Given the description of an element on the screen output the (x, y) to click on. 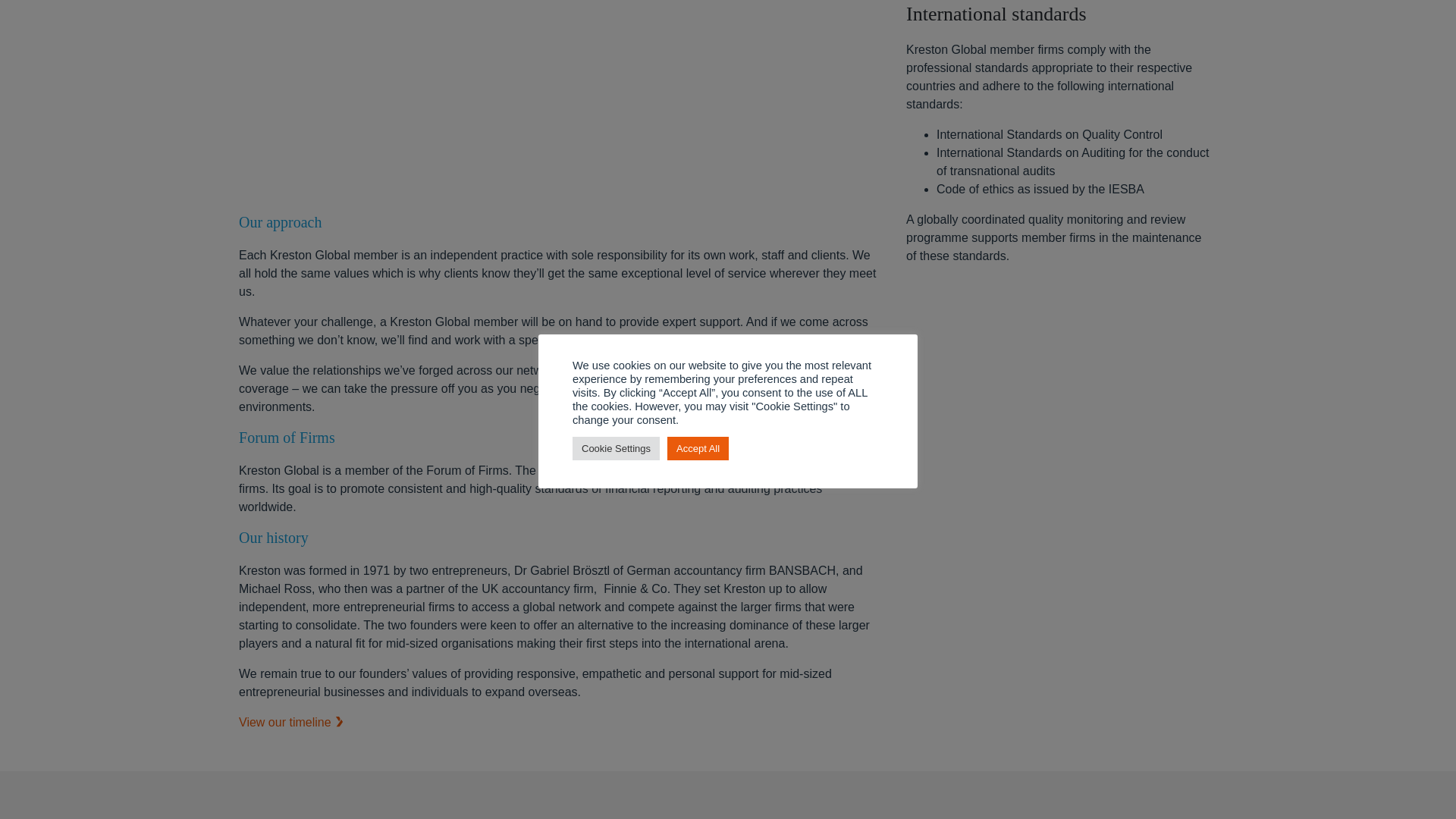
2021 - Kreston Global corporate video (560, 100)
